Given the description of an element on the screen output the (x, y) to click on. 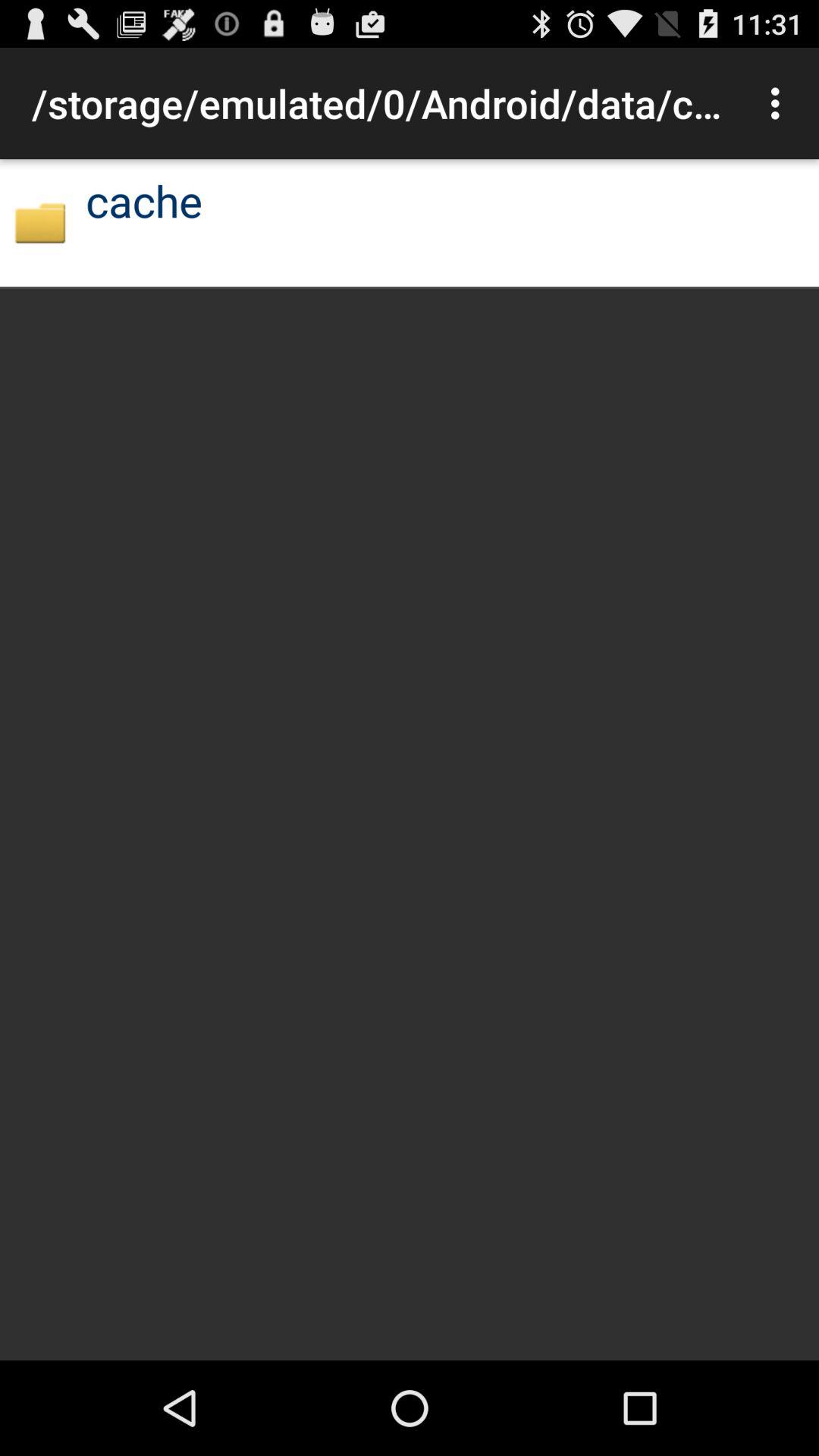
press app next to the cache icon (39, 222)
